Given the description of an element on the screen output the (x, y) to click on. 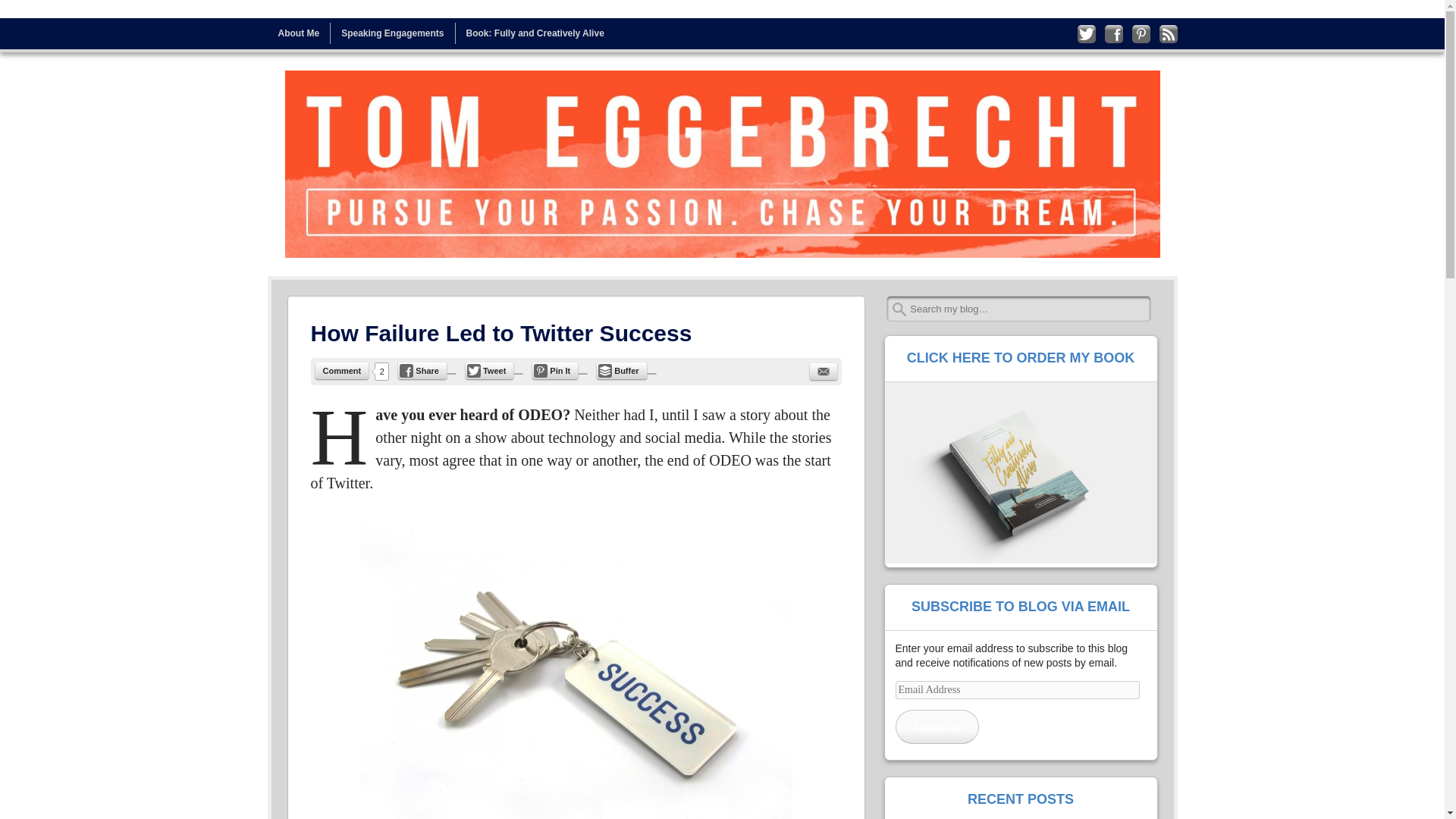
About Me (298, 33)
Follow me on Twitter (1085, 34)
Buffer (621, 370)
Skip to content (299, 33)
Share with Buffer (621, 370)
Tweet this Post (489, 370)
Search (31, 17)
The keys of success (575, 667)
Comment on this Post (342, 370)
Subscribe to my RSS Feed (1167, 34)
Share on Facebook (421, 370)
Follow me on Pinterest (1140, 34)
Tweet (489, 370)
Speaking Engagements (392, 33)
